Given the description of an element on the screen output the (x, y) to click on. 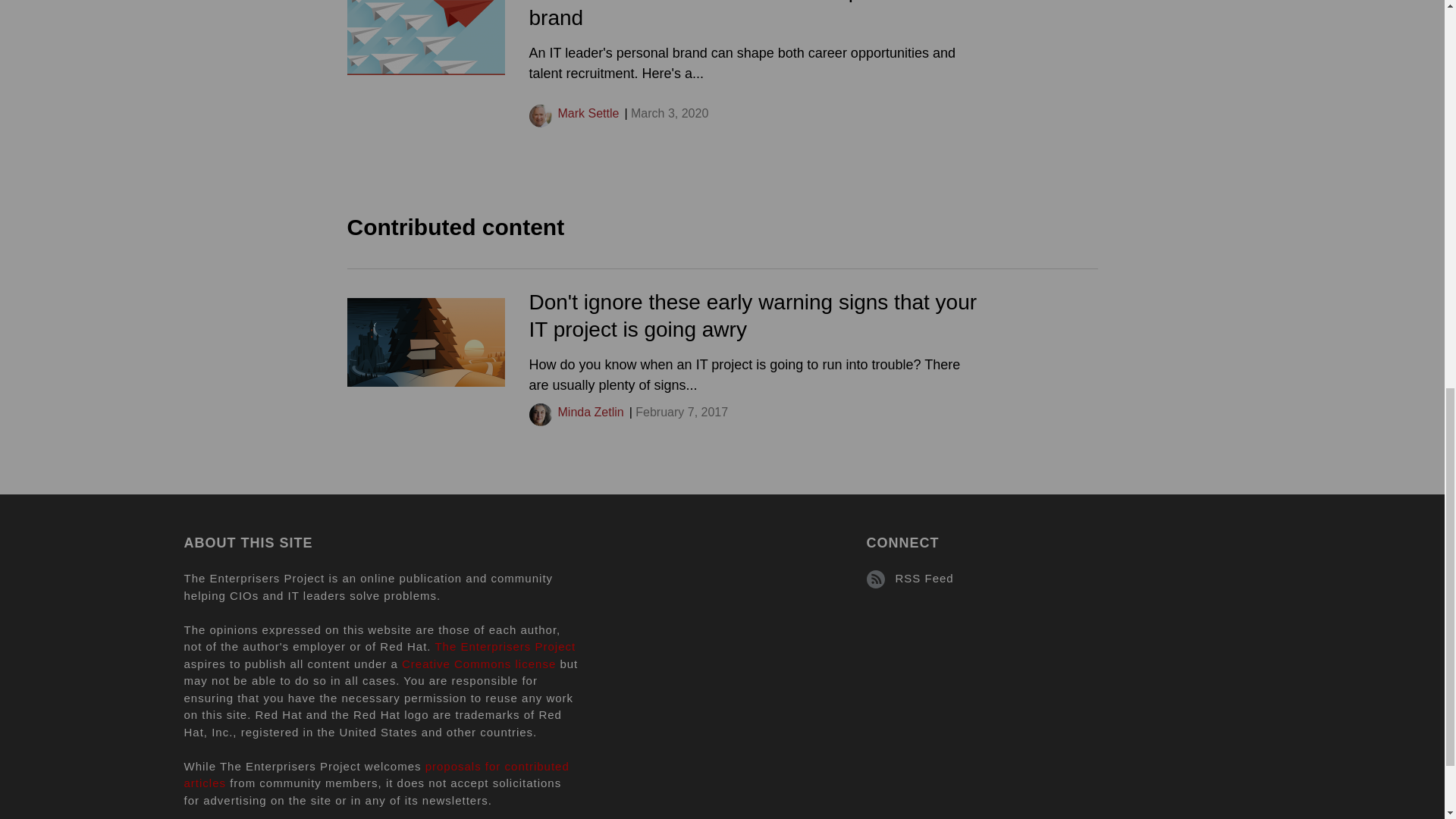
How IT leaders can cultivate their personal brand (729, 14)
remote work security best practices (426, 342)
CIO as Digital Leader (426, 37)
The Enterprisers Project (504, 645)
Creative Commons license (478, 663)
The Enterprisers Project (504, 645)
Minda Zetlin (590, 411)
Creative Commons license (478, 663)
proposals for contributed articles (376, 775)
Mark Settle (588, 113)
